Given the description of an element on the screen output the (x, y) to click on. 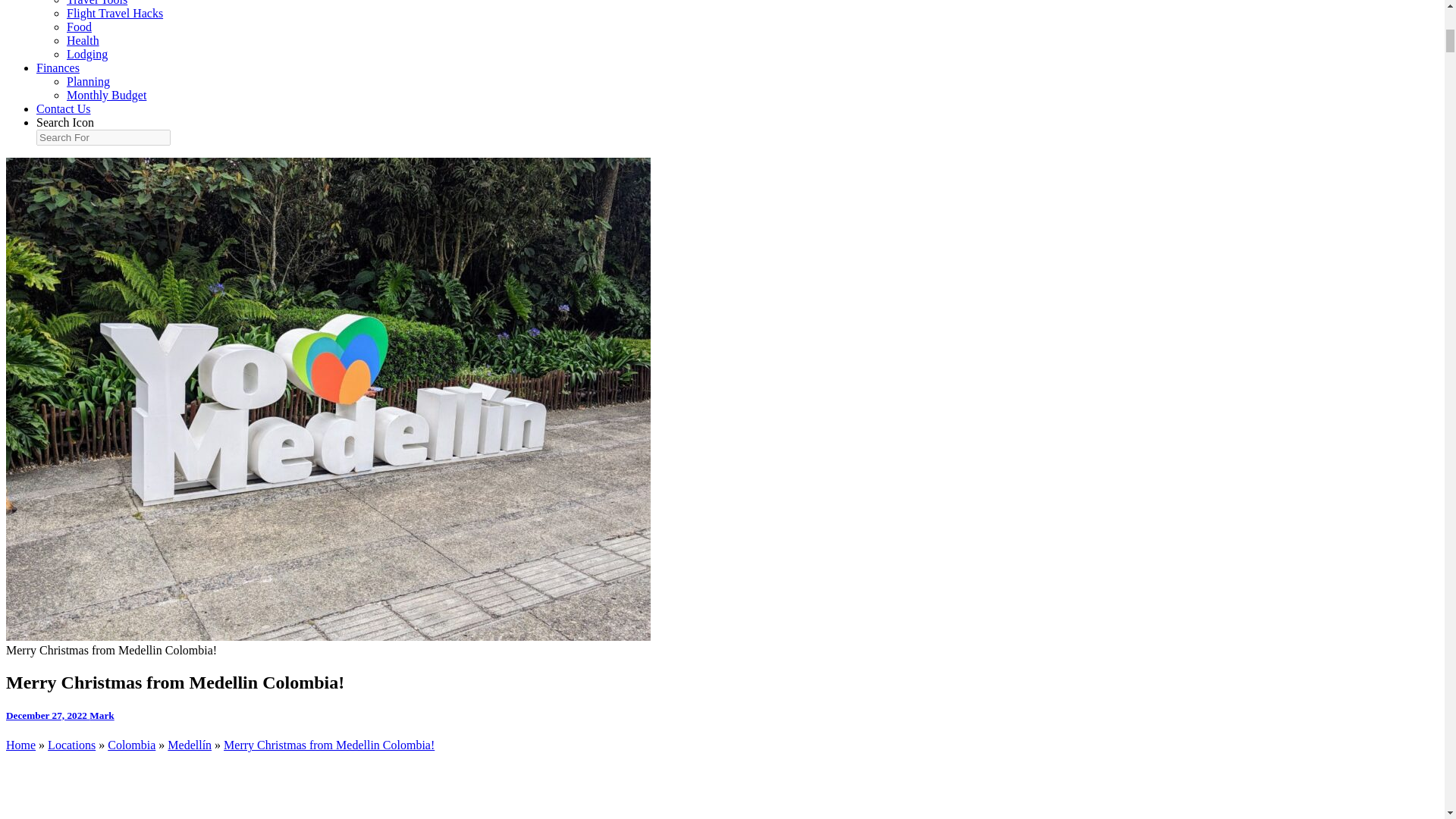
Merry Christmas from Medellin Colombia! (328, 744)
Locations (72, 744)
Home (19, 744)
Colombia (131, 744)
View all posts by Mark (100, 715)
10:17 am (46, 715)
